Given the description of an element on the screen output the (x, y) to click on. 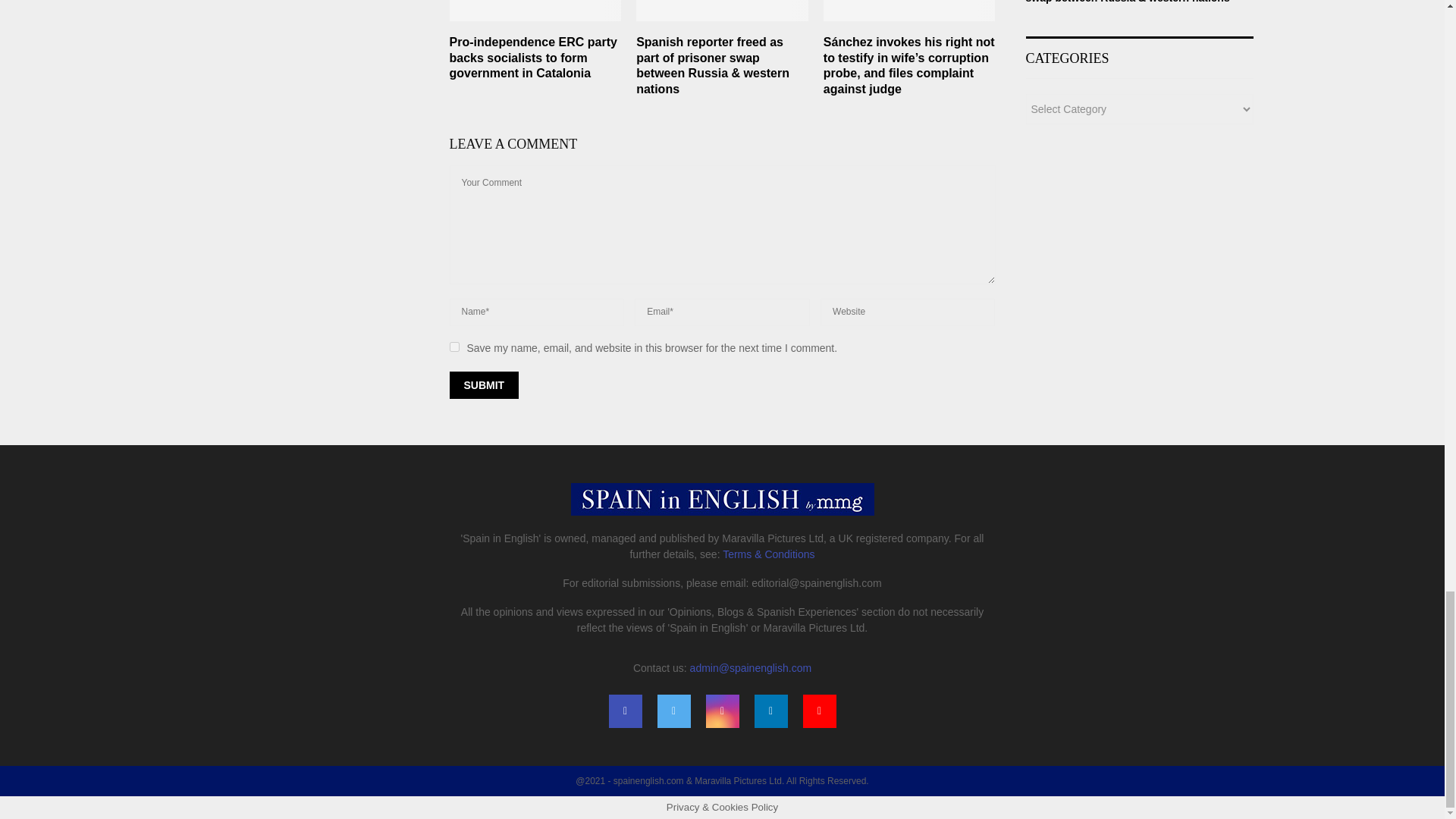
Submit (483, 384)
yes (453, 347)
Linkedin (770, 711)
Instagram (721, 711)
Twitter (673, 711)
Facebook (625, 711)
